Given the description of an element on the screen output the (x, y) to click on. 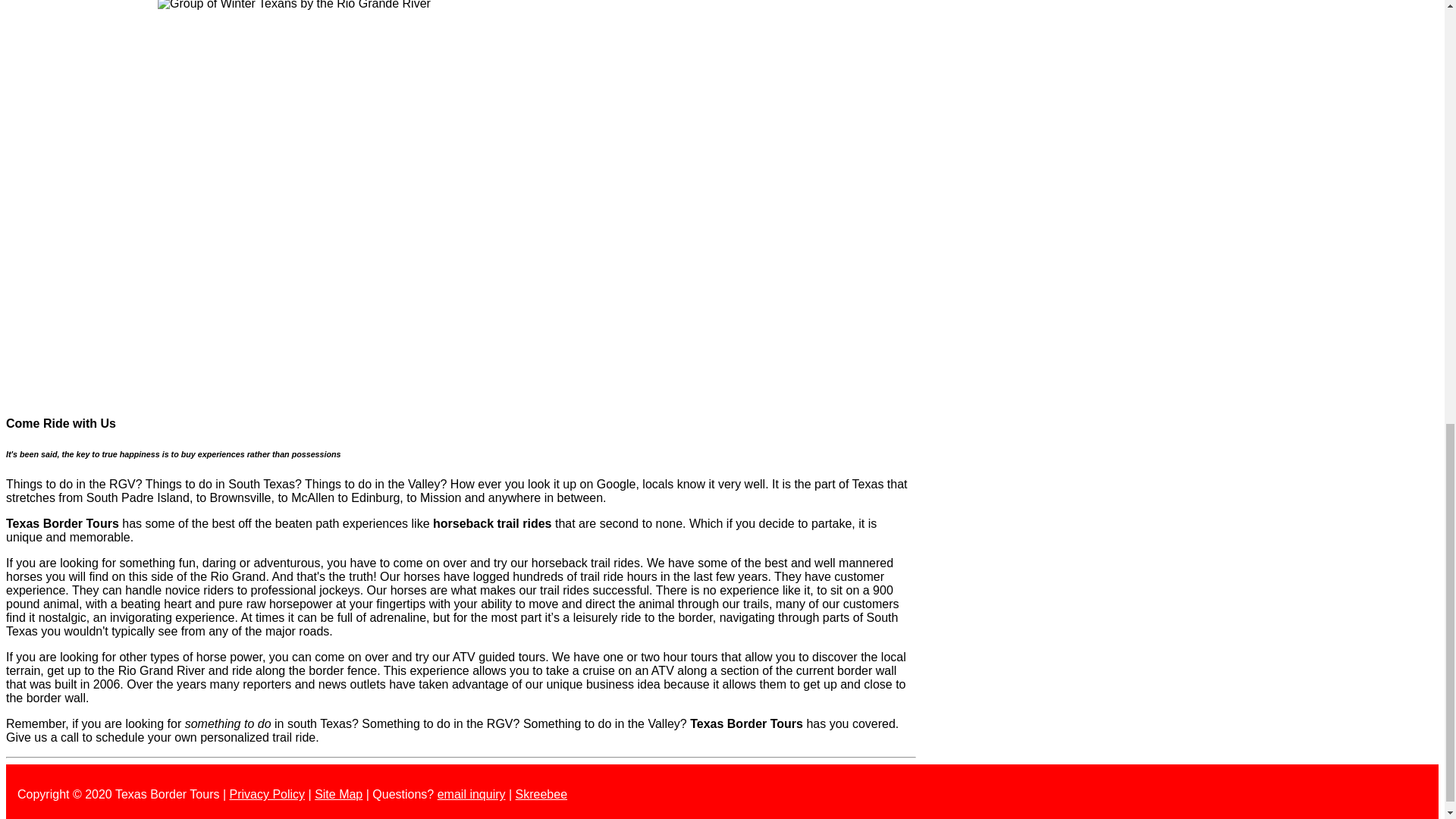
Site Map (338, 793)
Privacy Policy (266, 793)
email inquiry (471, 793)
Skreebee (541, 793)
